Given the description of an element on the screen output the (x, y) to click on. 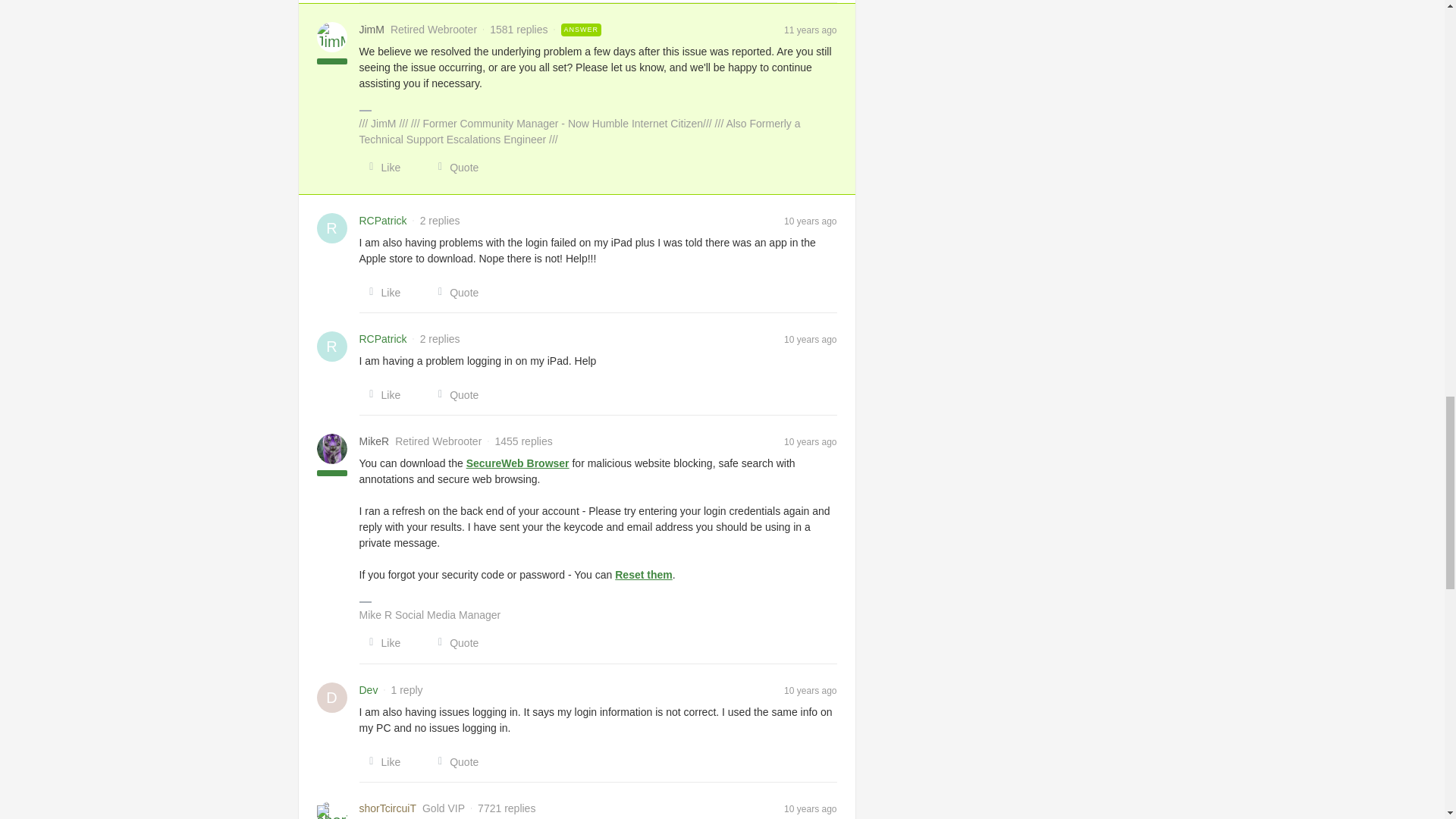
JimM (371, 29)
RCPatrick (383, 220)
MikeR (374, 441)
RCPatrick (383, 339)
